Given the description of an element on the screen output the (x, y) to click on. 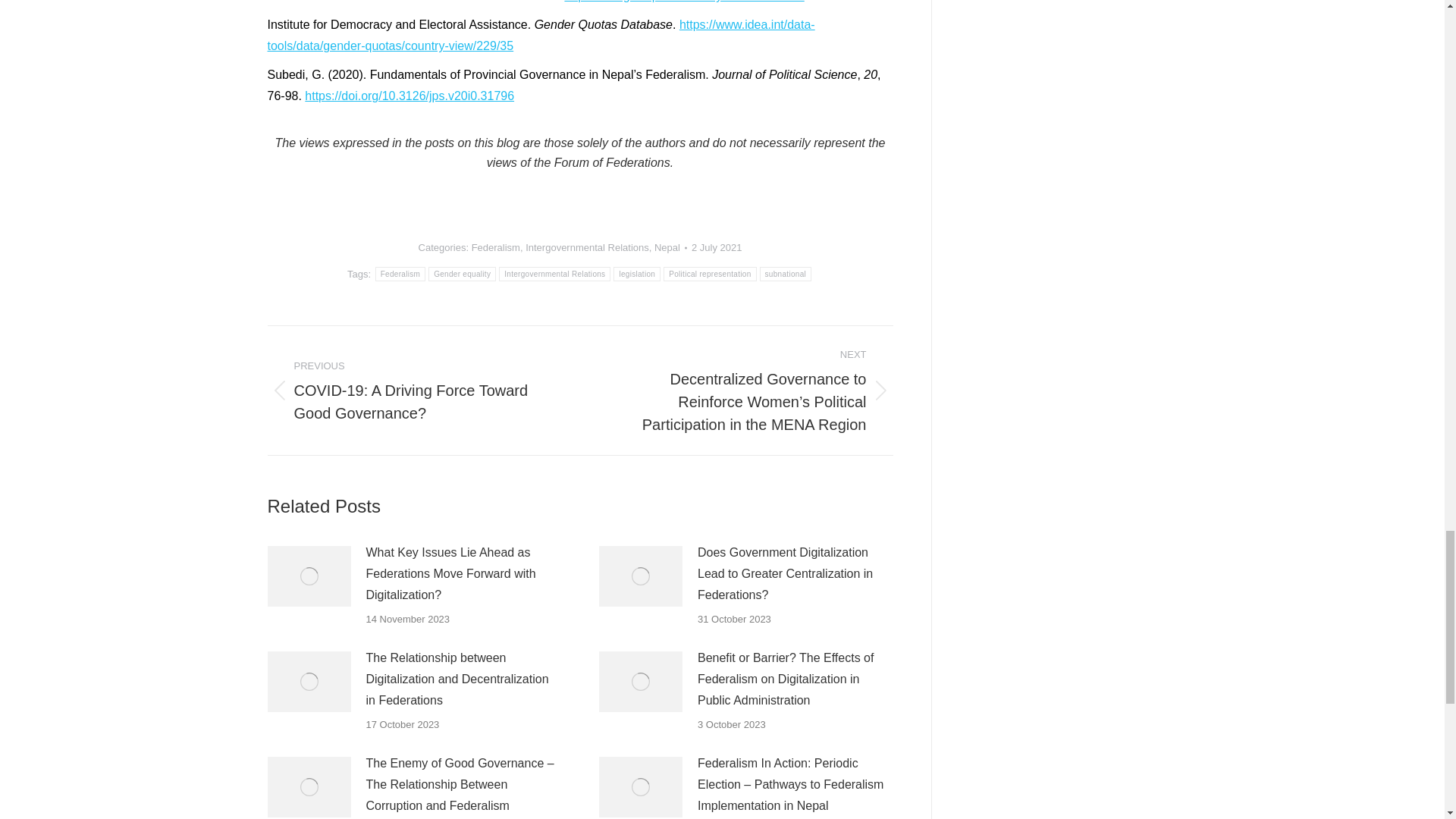
Federalism (400, 273)
4:11 pm (716, 247)
Gender equality (462, 273)
2 July 2021 (716, 247)
Federalism (495, 247)
Intergovernmental Relations (554, 273)
legislation (636, 273)
Nepal (666, 247)
Intergovernmental Relations (587, 247)
Political representation (709, 273)
